Given the description of an element on the screen output the (x, y) to click on. 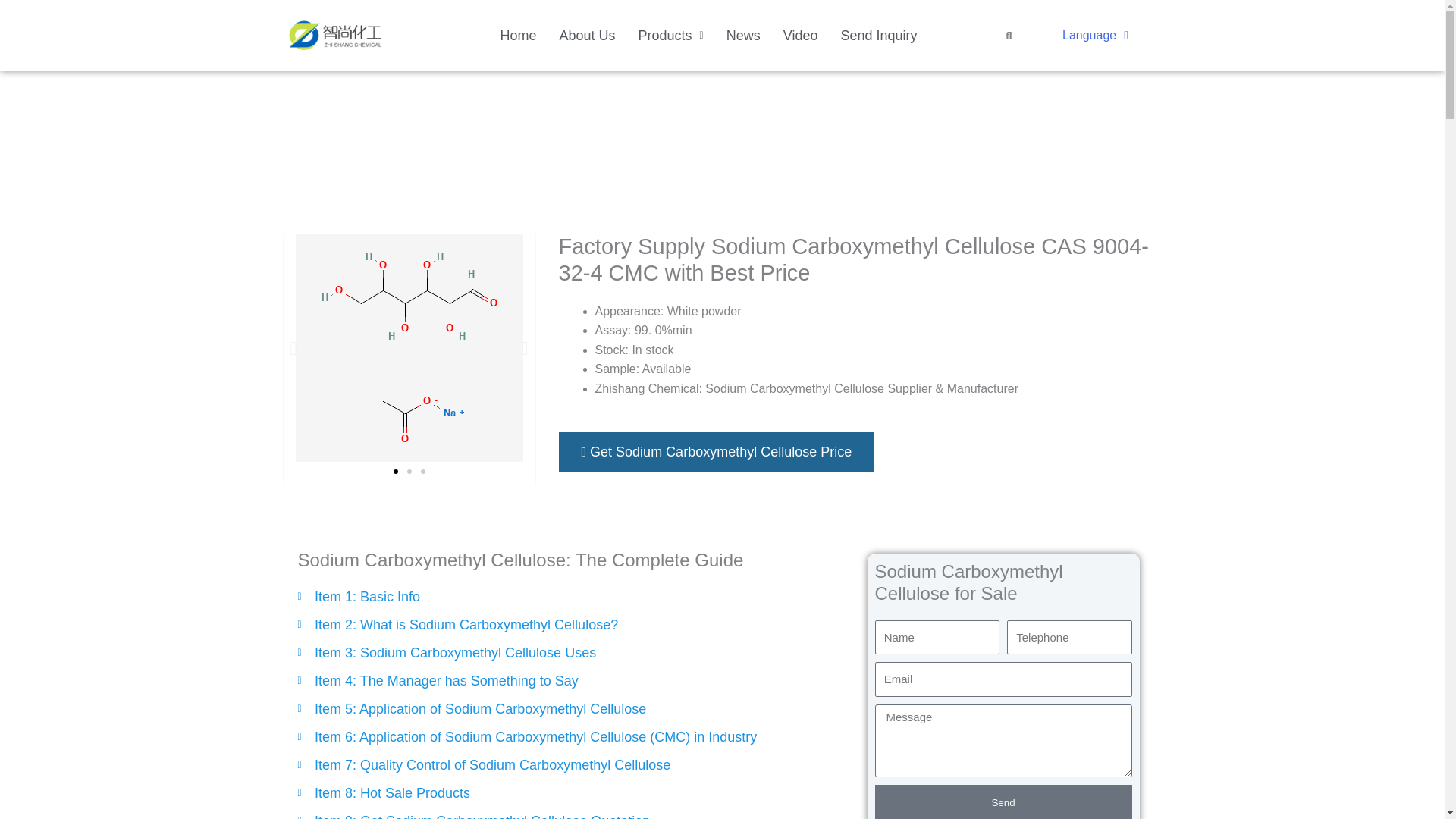
Products (670, 35)
News (742, 35)
Video (800, 35)
About Us (586, 35)
Search (1003, 35)
Home (517, 35)
Send Inquiry (878, 35)
Language (1094, 35)
